Given the description of an element on the screen output the (x, y) to click on. 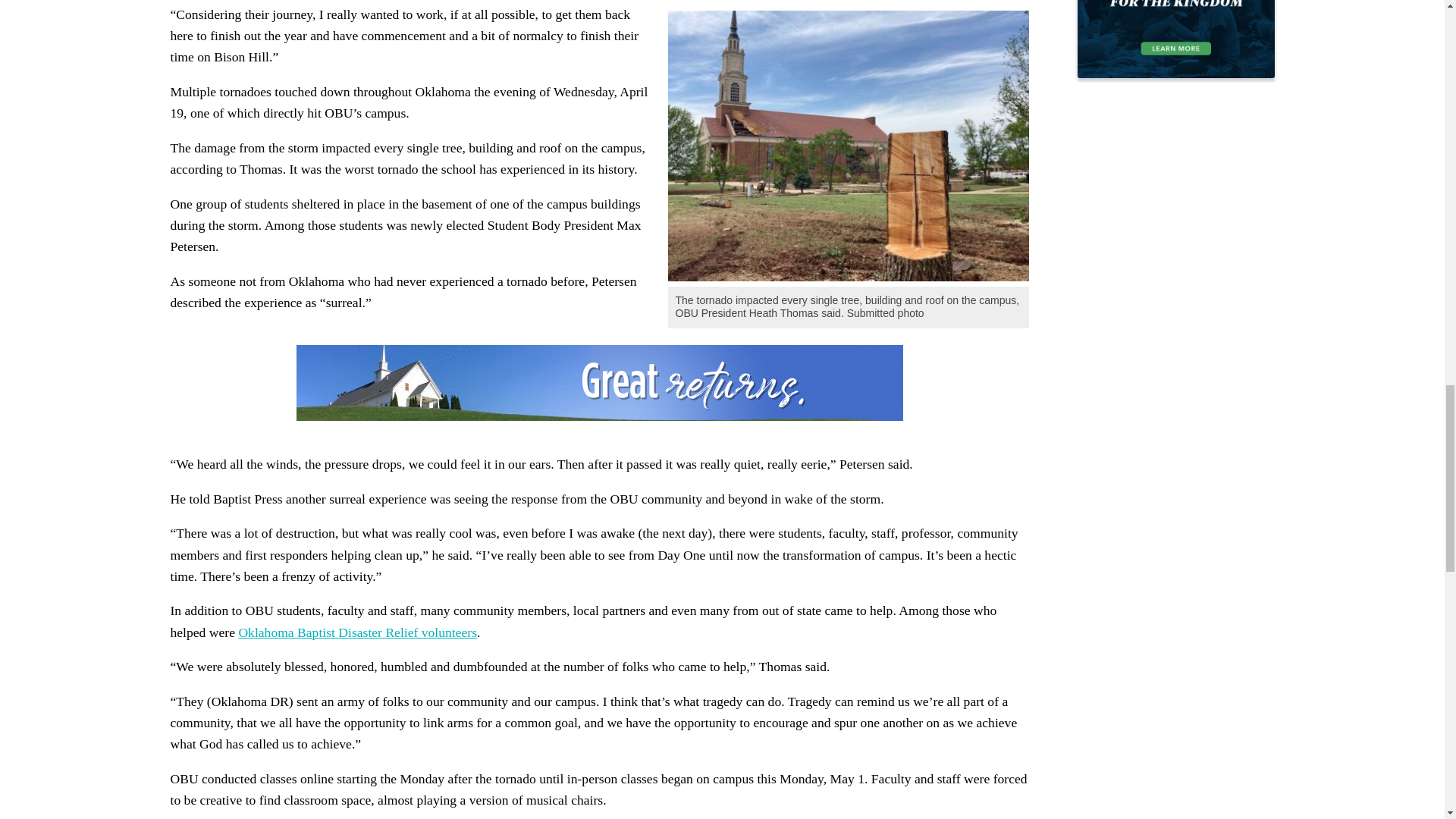
Oklahoma Baptist Disaster Relief volunteers (357, 631)
